Given the description of an element on the screen output the (x, y) to click on. 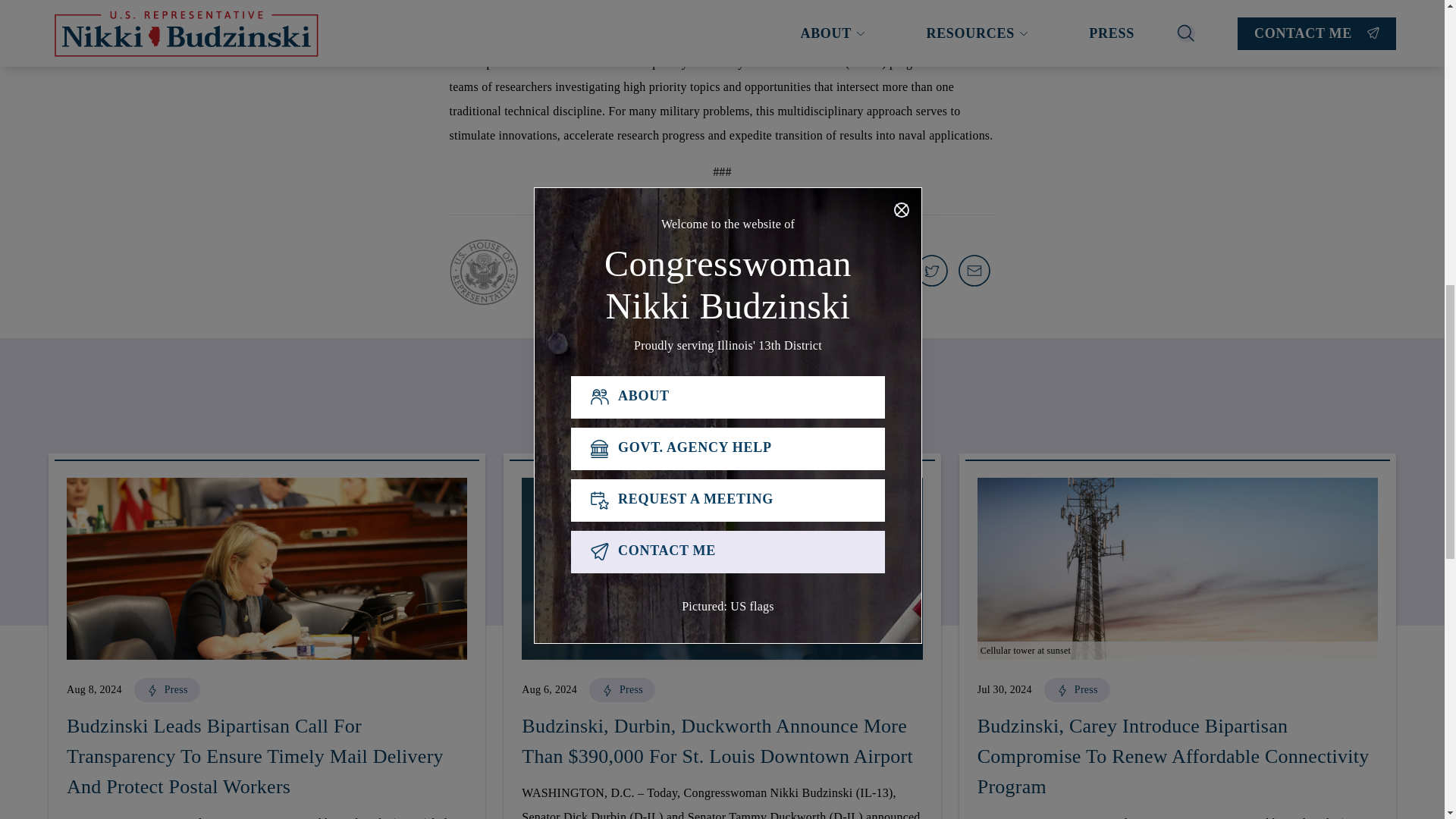
Press (166, 692)
Press (1076, 692)
Press (622, 692)
